Given the description of an element on the screen output the (x, y) to click on. 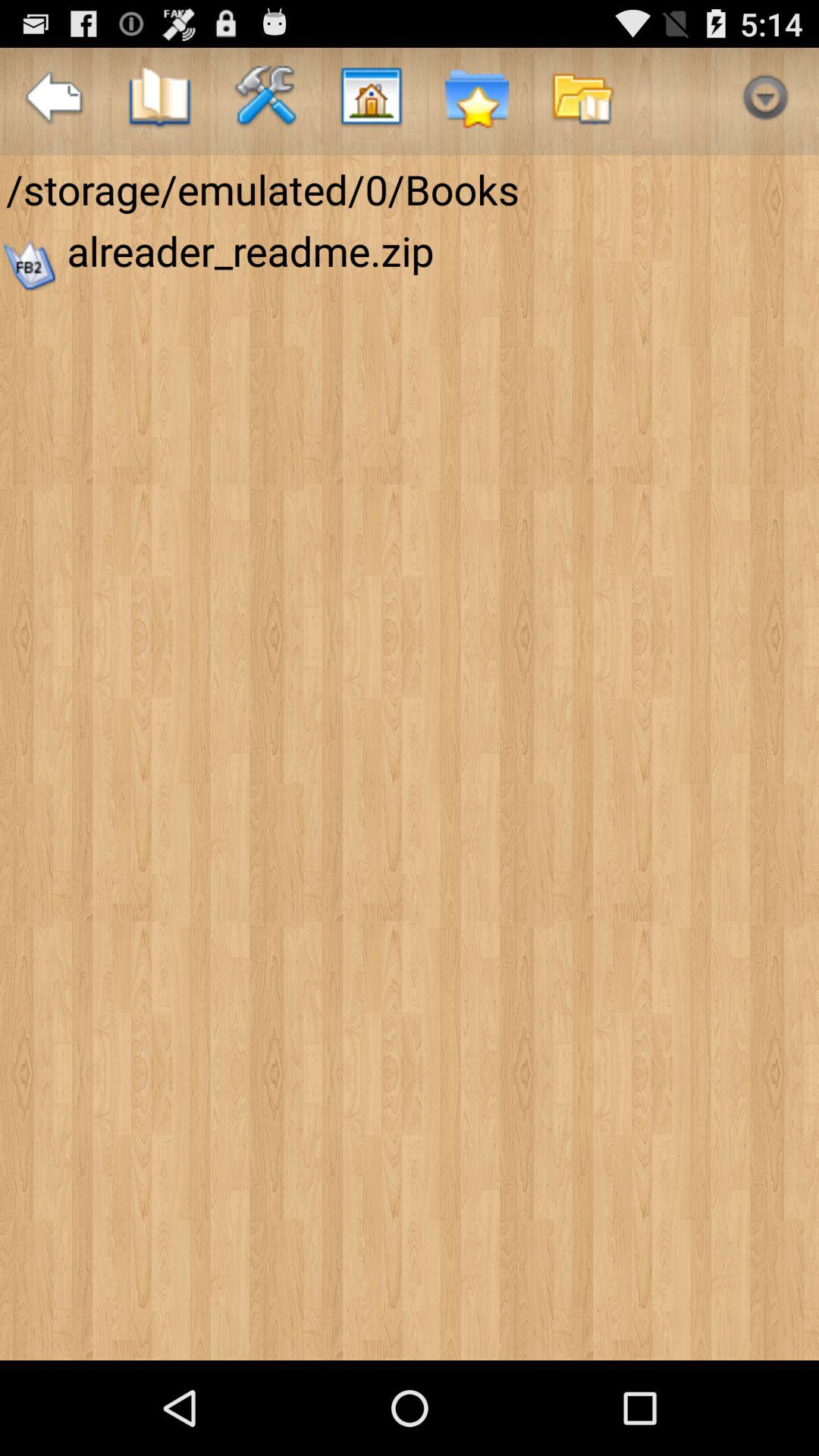
choose item above the storage emulated 0 (371, 101)
